Given the description of an element on the screen output the (x, y) to click on. 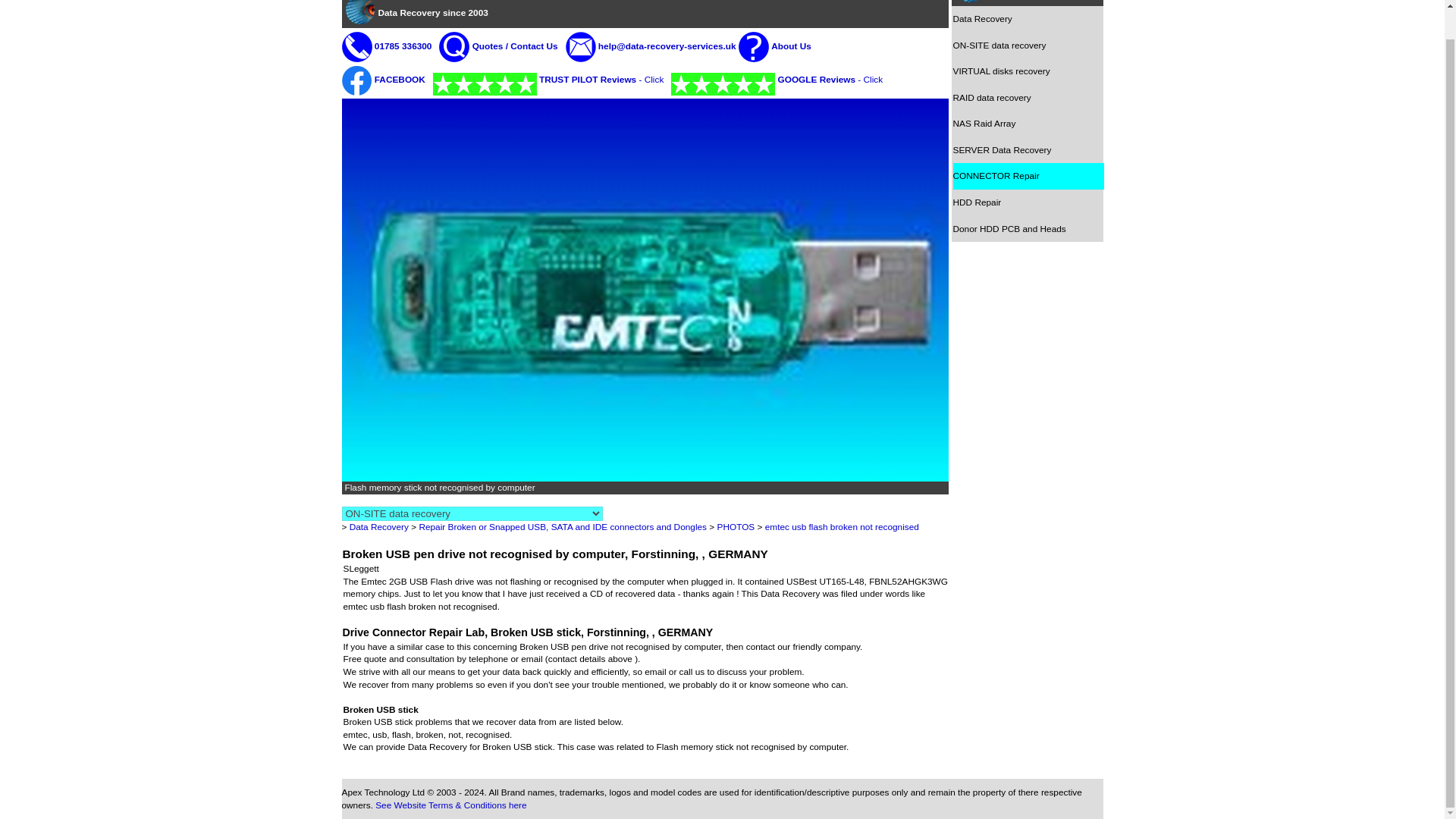
emtec usb flash broken not recognised (841, 526)
NAS Raid Array (1027, 123)
Data Recovery (379, 526)
About Us (790, 45)
FACEBOOK (399, 79)
PHOTOS (736, 526)
Donor HDD PCB and Heads (1027, 229)
HDD Repair (1027, 202)
SERVER Data Recovery (1027, 150)
CONNECTOR Repair (1027, 175)
